Given the description of an element on the screen output the (x, y) to click on. 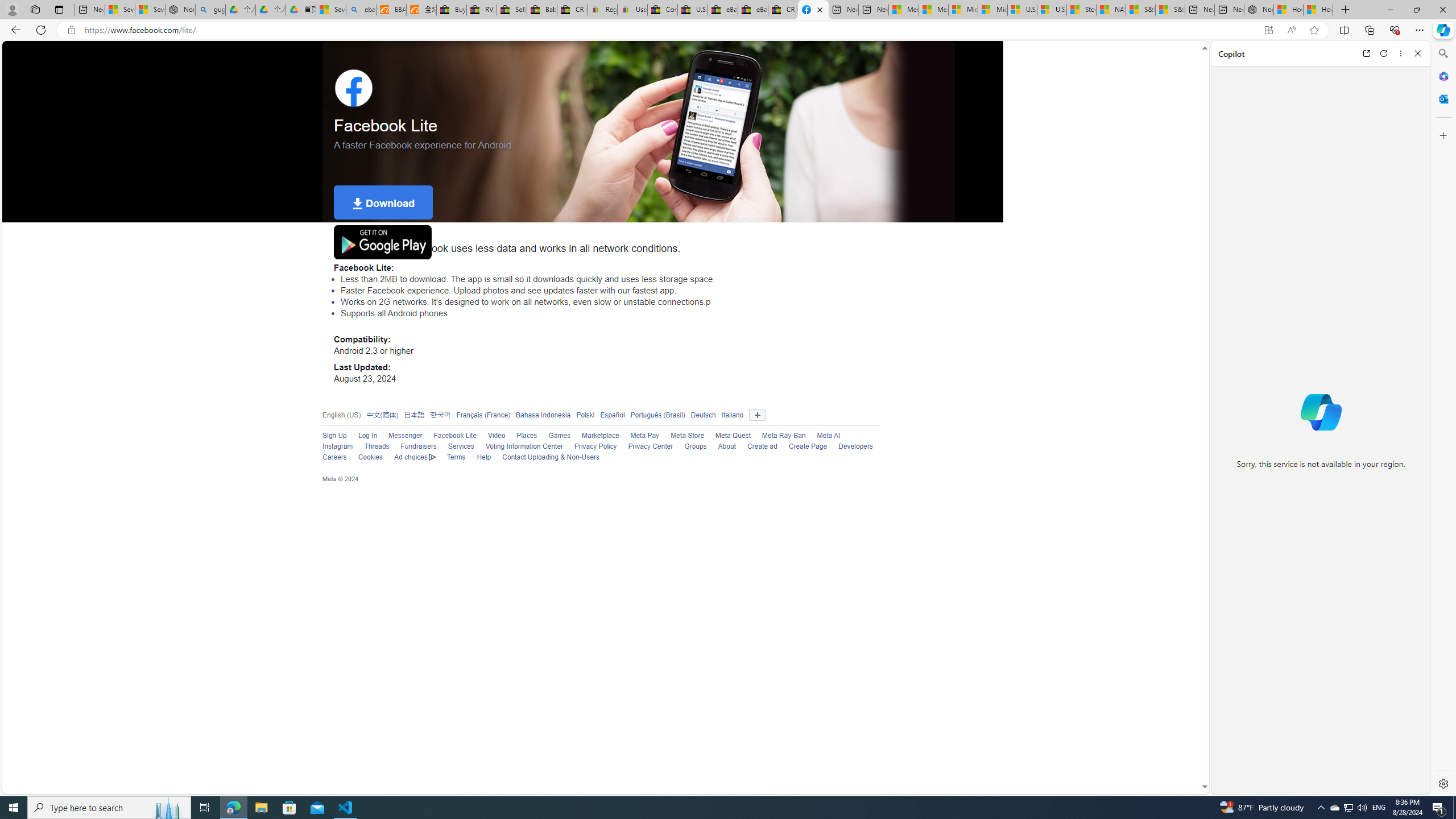
Sign Up (333, 435)
Create Page (807, 446)
Minimize (1390, 9)
RV, Trailer & Camper Steps & Ladders for sale | eBay (481, 9)
eBay Inc. Reports Third Quarter 2023 Results (753, 9)
Italiano (729, 415)
S&P 500, Nasdaq end lower, weighed by Nvidia dip | Watch (1169, 9)
Games (559, 435)
Workspaces (34, 9)
U.S. State Privacy Disclosures - eBay Inc. (691, 9)
